Given the description of an element on the screen output the (x, y) to click on. 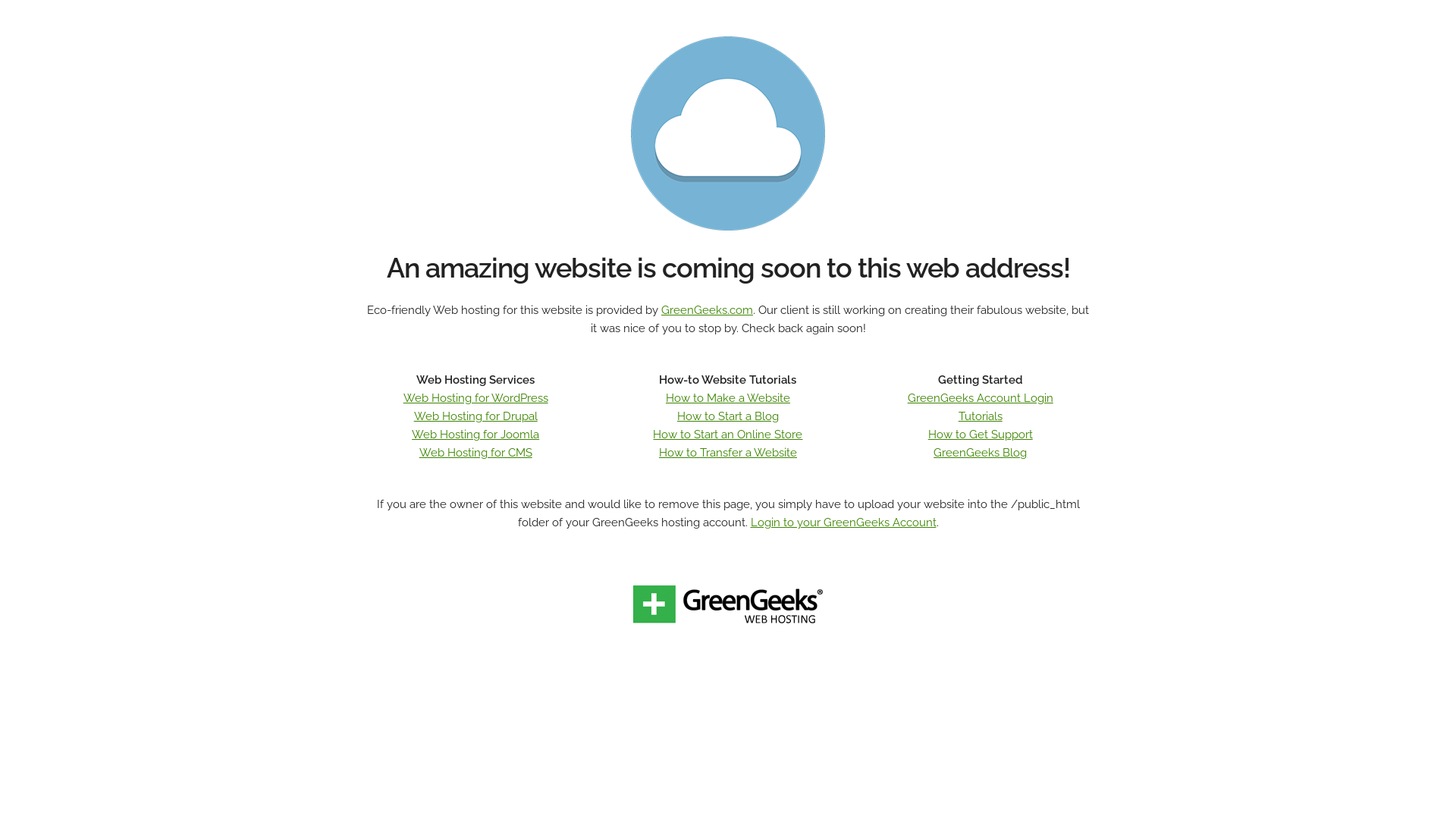
Web Hosting for Drupal Element type: text (475, 416)
How to Start an Online Store Element type: text (727, 434)
How to Start a Blog Element type: text (727, 416)
Web Hosting for CMS Element type: text (475, 452)
Tutorials Element type: text (980, 416)
How to Transfer a Website Element type: text (727, 452)
Web Hosting for Joomla Element type: text (475, 434)
GreenGeeks Account Login Element type: text (980, 397)
How to Get Support Element type: text (980, 434)
How to Make a Website Element type: text (727, 397)
Login to your GreenGeeks Account Element type: text (843, 522)
GreenGeeks Blog Element type: text (979, 452)
GreenGeeks.com Element type: text (707, 309)
Web Hosting for WordPress Element type: text (475, 397)
